Given the description of an element on the screen output the (x, y) to click on. 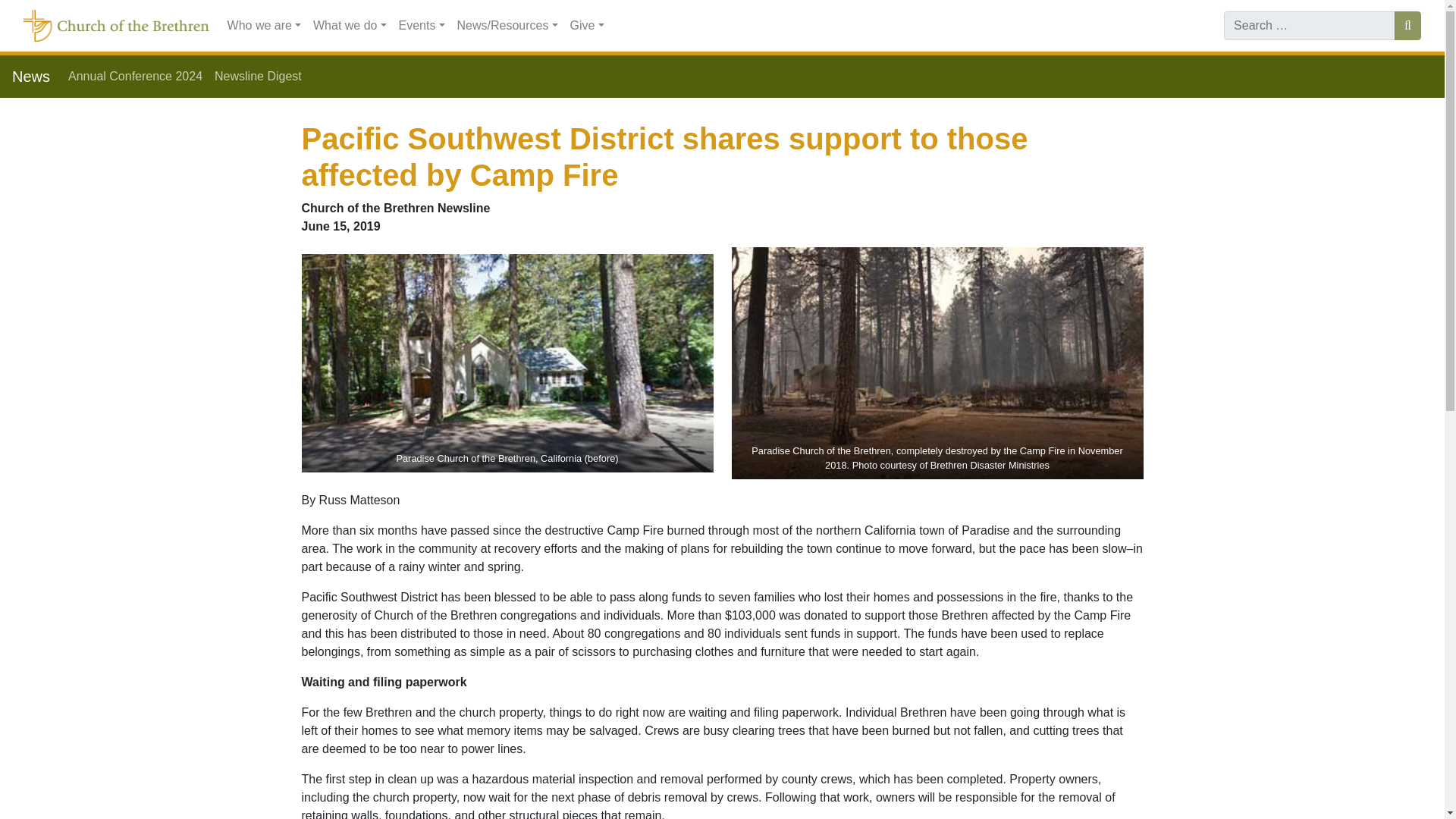
Who we are (264, 25)
What we do (350, 25)
Events (422, 25)
What we do (350, 25)
Who we are (264, 25)
